Given the description of an element on the screen output the (x, y) to click on. 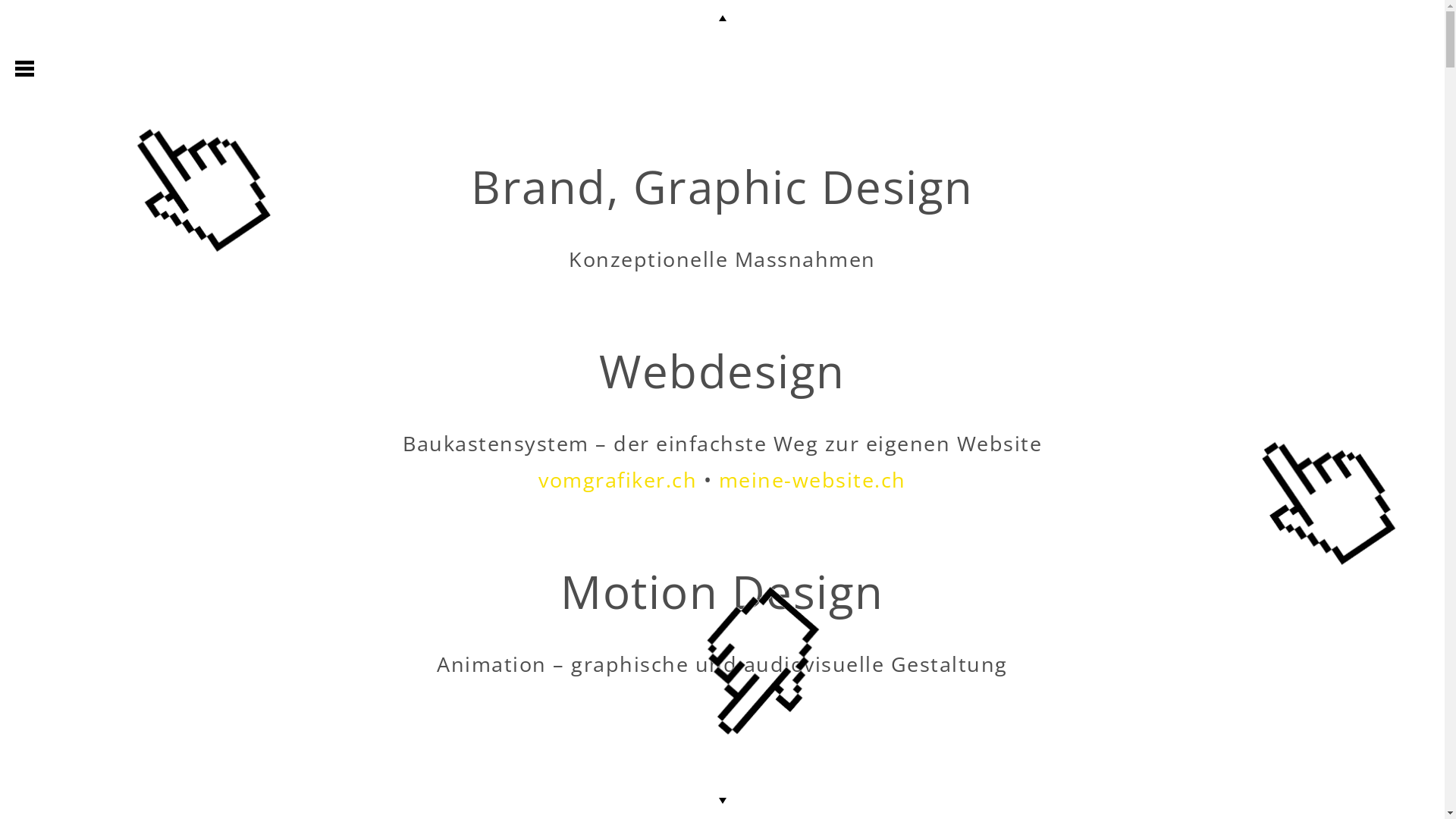
meine-website.ch Element type: text (812, 479)
vomgrafiker.ch Element type: text (617, 479)
